Given the description of an element on the screen output the (x, y) to click on. 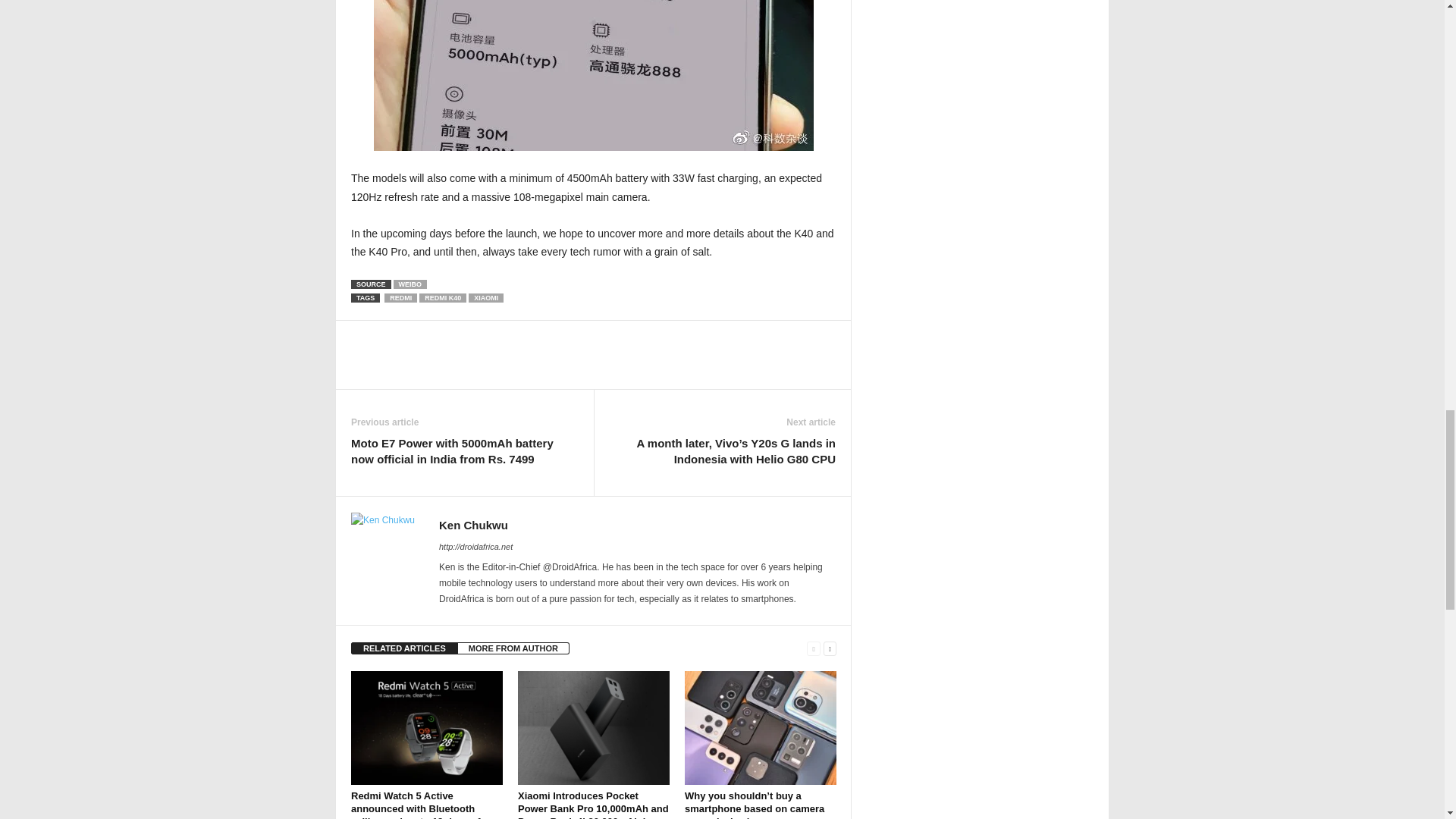
Ken Chukwu (473, 524)
Redmi K40 Pro expected specs 1 1 (593, 75)
REDMI K40 (442, 297)
bottomFacebookLike (390, 335)
REDMI (400, 297)
XIAOMI (485, 297)
WEIBO (410, 284)
